Given the description of an element on the screen output the (x, y) to click on. 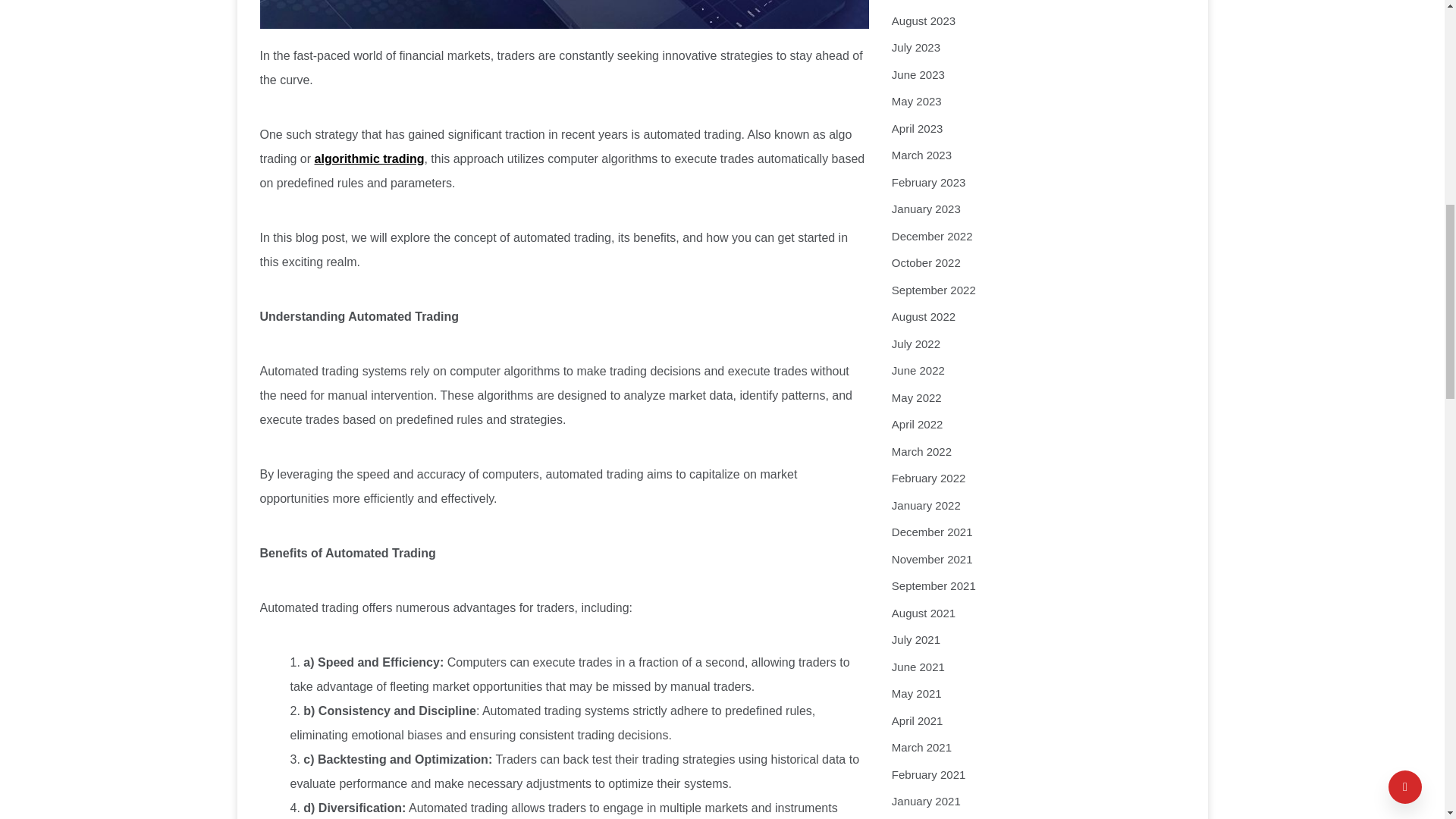
algorithmic trading (369, 158)
